Given the description of an element on the screen output the (x, y) to click on. 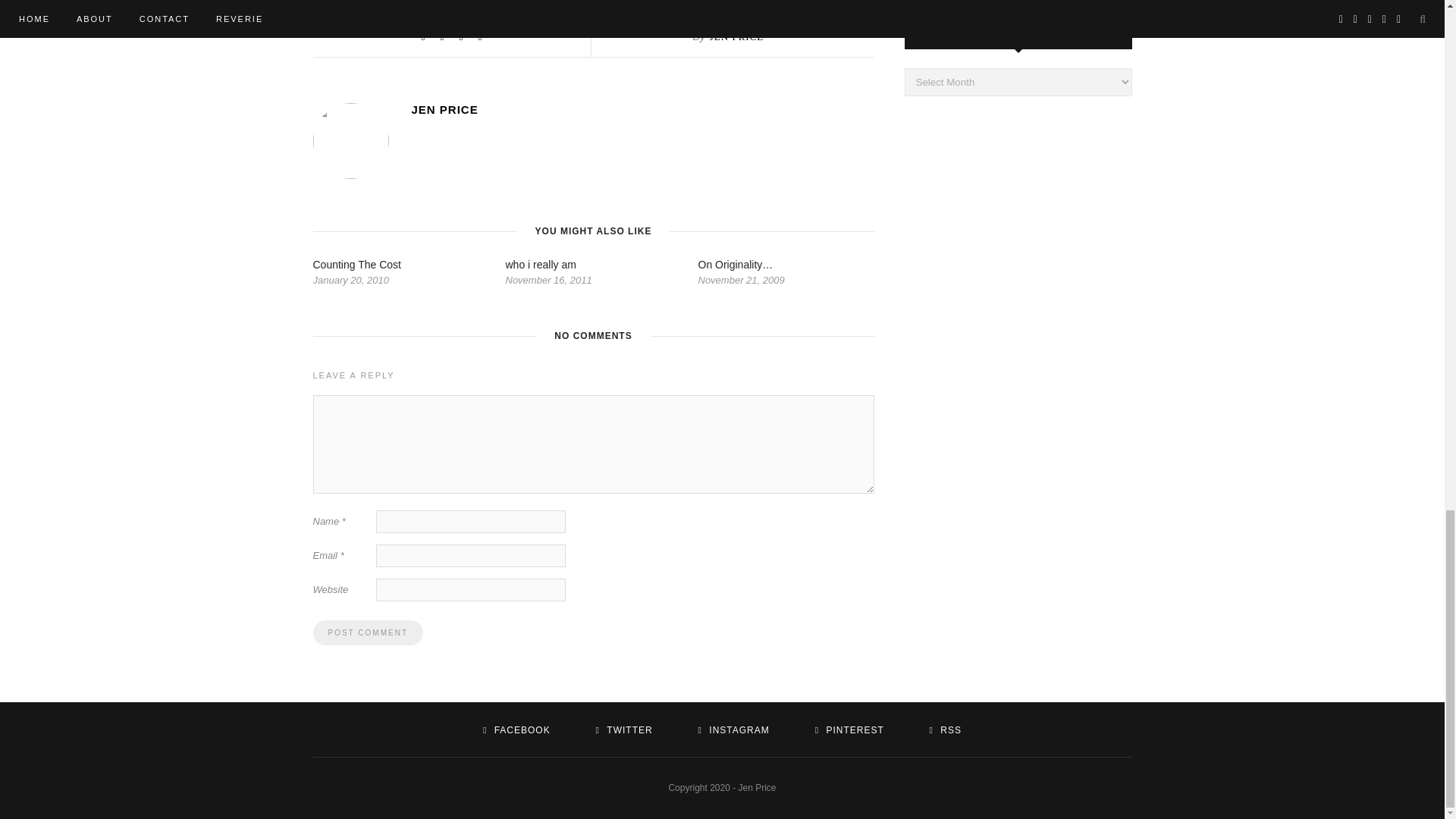
Posts by Jen Price (736, 36)
JEN PRICE (736, 36)
Post Comment (367, 632)
INSTAGRAM (734, 729)
FACEBOOK (516, 729)
Post Comment (367, 632)
PINTEREST (849, 729)
RSS (945, 729)
Posts by Jen Price (641, 109)
TWITTER (623, 729)
